Given the description of an element on the screen output the (x, y) to click on. 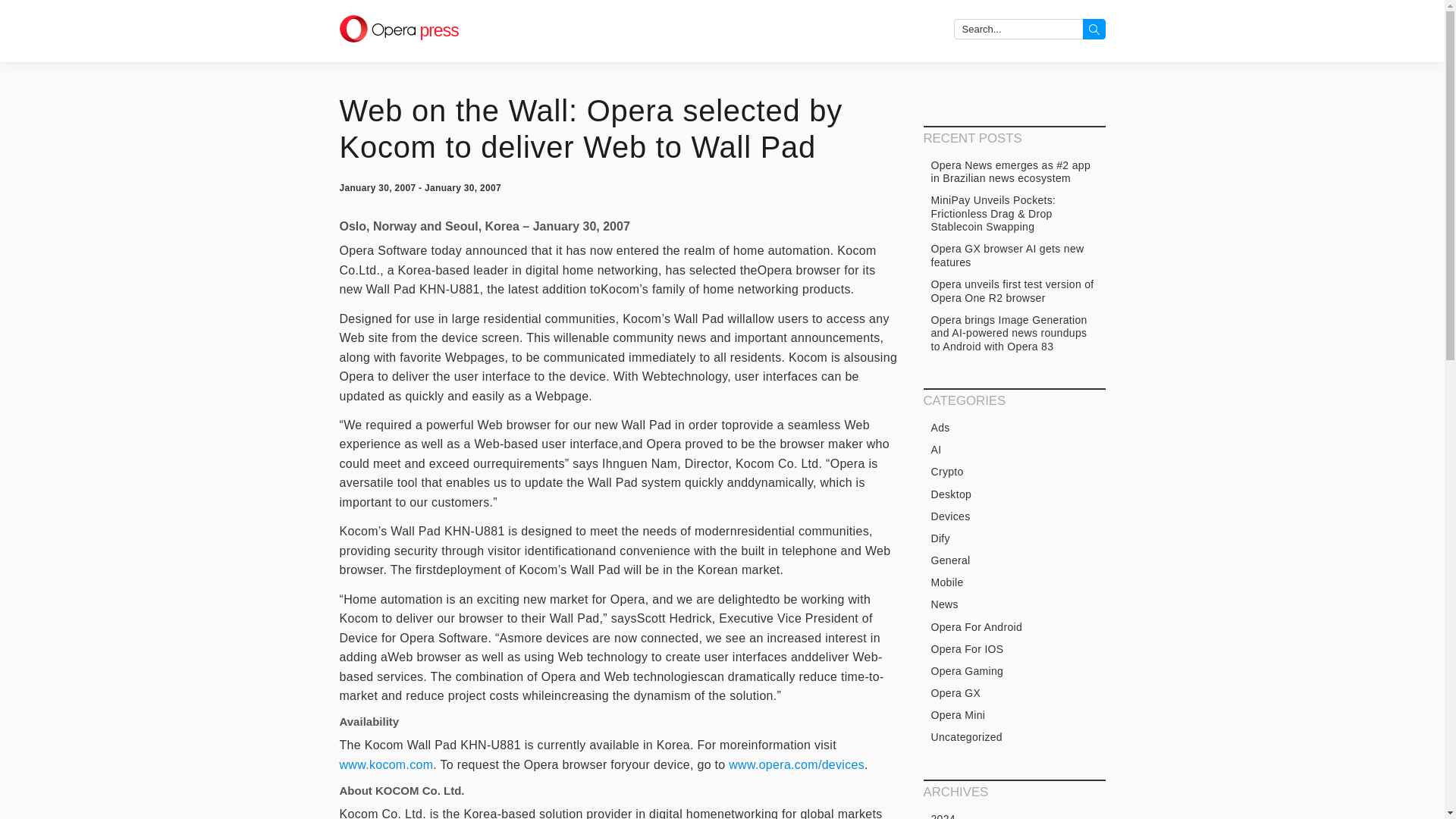
Crypto (1014, 472)
AI (1014, 450)
Opera For Android (1014, 627)
Opera Newsroom (398, 30)
2024 (1014, 814)
Opera Mini (1014, 715)
General (1014, 561)
Uncategorized (1014, 737)
Mobile (1014, 583)
press (398, 30)
News (1014, 605)
Opera For IOS (1014, 648)
www.kocom.com (386, 764)
